Given the description of an element on the screen output the (x, y) to click on. 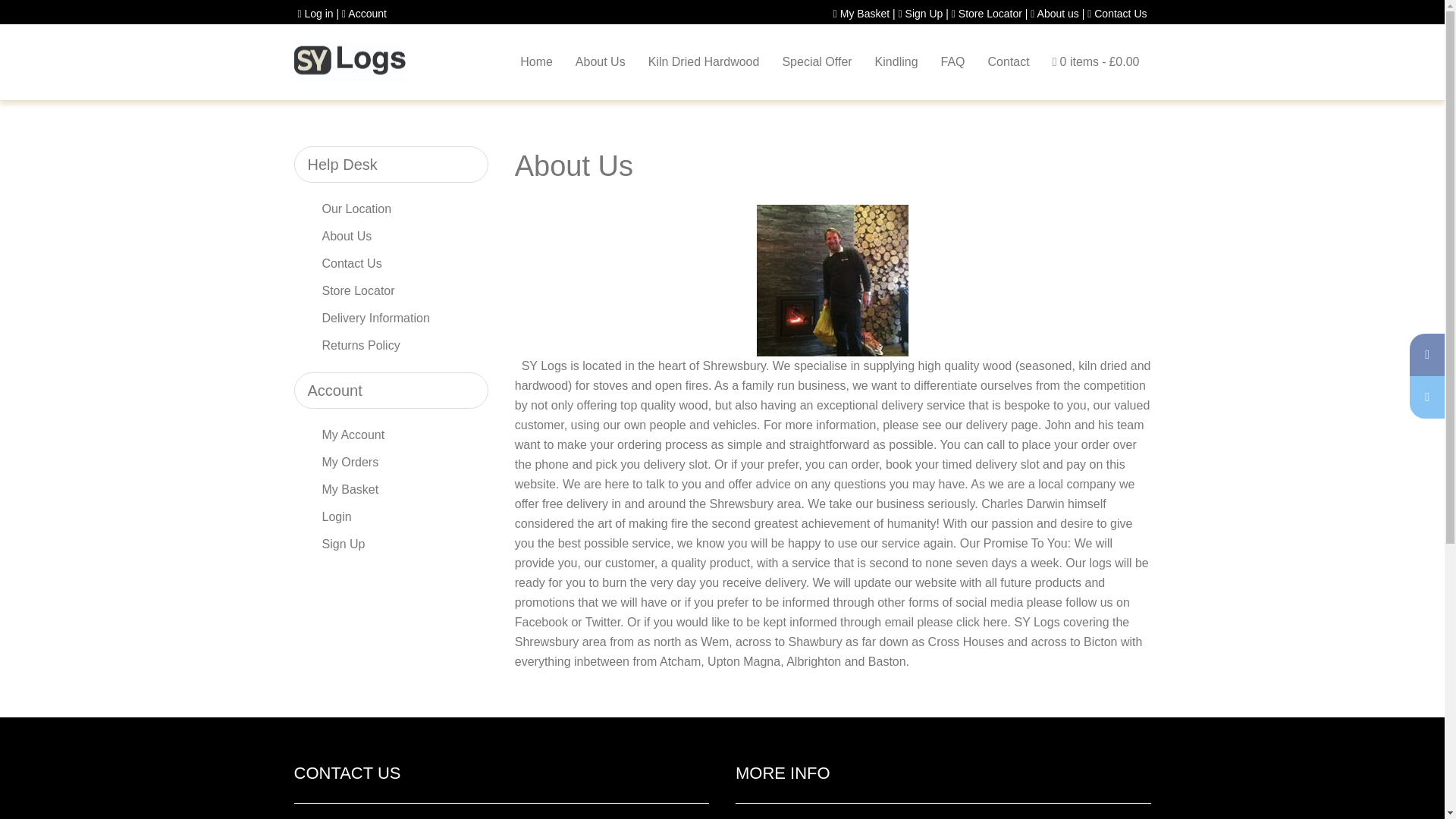
Login (389, 516)
Our Location (389, 208)
My Account (389, 434)
 Log in (315, 13)
My Basket (389, 489)
About Us (389, 236)
  Account (363, 13)
Delivery Information (389, 318)
Kiln Dried Hardwood (704, 61)
My Orders (389, 461)
 About us (1054, 13)
 Contact Us (1117, 13)
Special Offer (816, 61)
click here (981, 621)
Contact Us (389, 263)
